Given the description of an element on the screen output the (x, y) to click on. 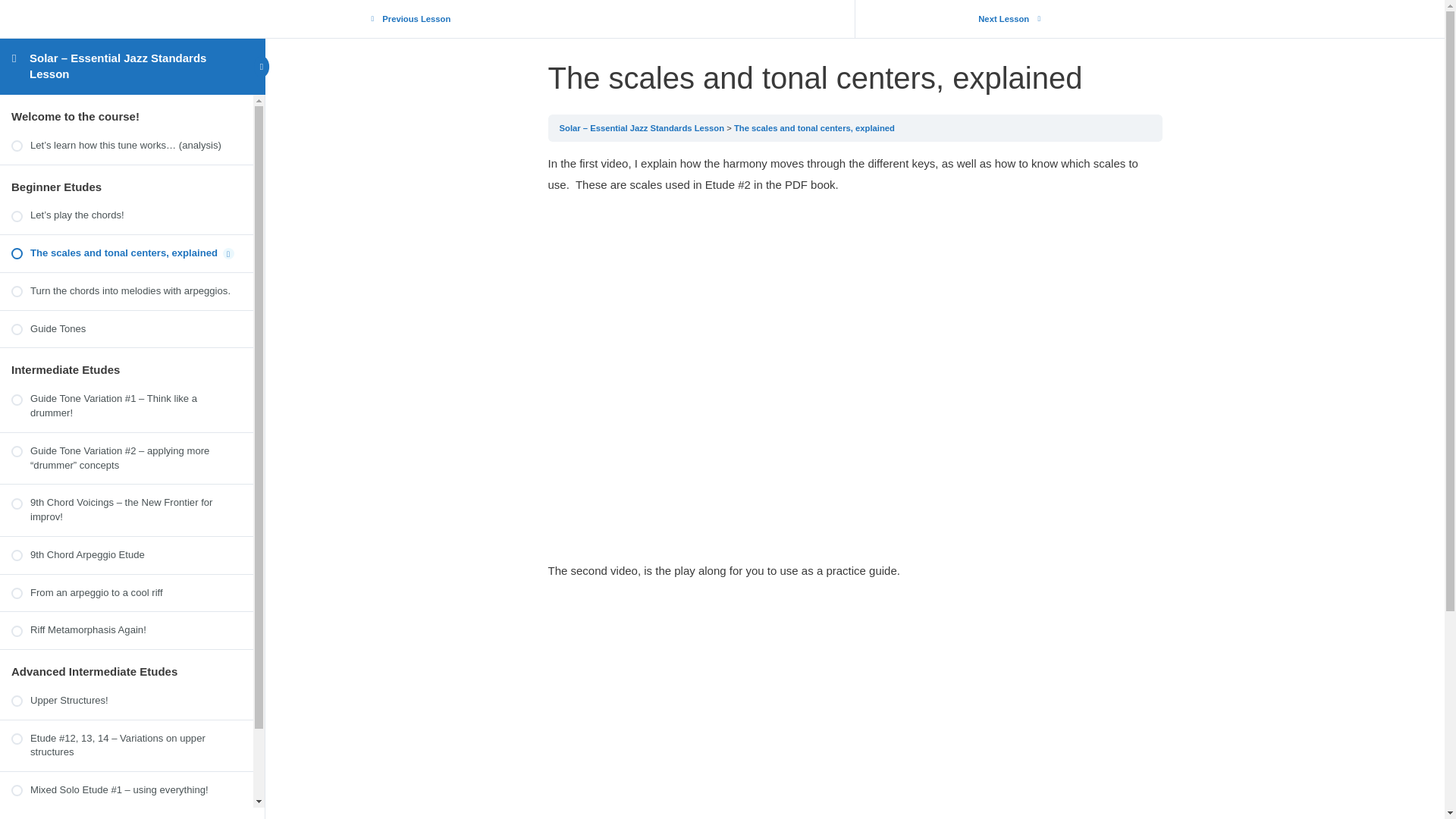
Next Lesson (1005, 18)
The scales and tonal centers, explained (126, 253)
Riff Metamorphasis Again! (126, 630)
Upper Structures! (126, 700)
Turn the chords into melodies with arpeggios. (126, 291)
The scales and tonal centers, explained (814, 126)
From an arpeggio to a cool riff (126, 593)
Guide Tones (126, 329)
Previous Lesson (414, 18)
9th Chord Arpeggio Etude (126, 554)
